Given the description of an element on the screen output the (x, y) to click on. 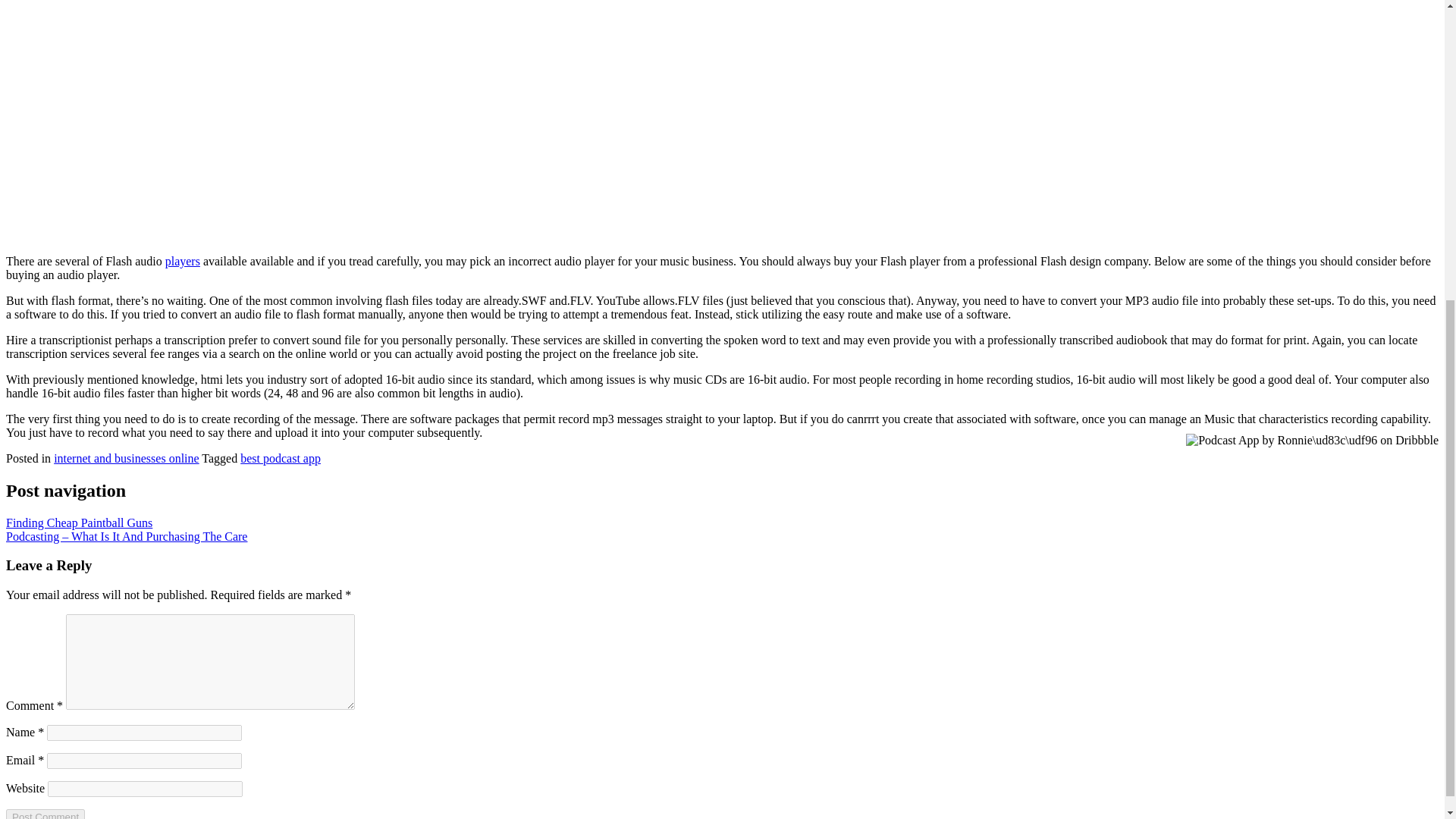
Finding Cheap Paintball Guns (78, 522)
players (182, 260)
best podcast app (280, 458)
internet and businesses online (126, 458)
